Given the description of an element on the screen output the (x, y) to click on. 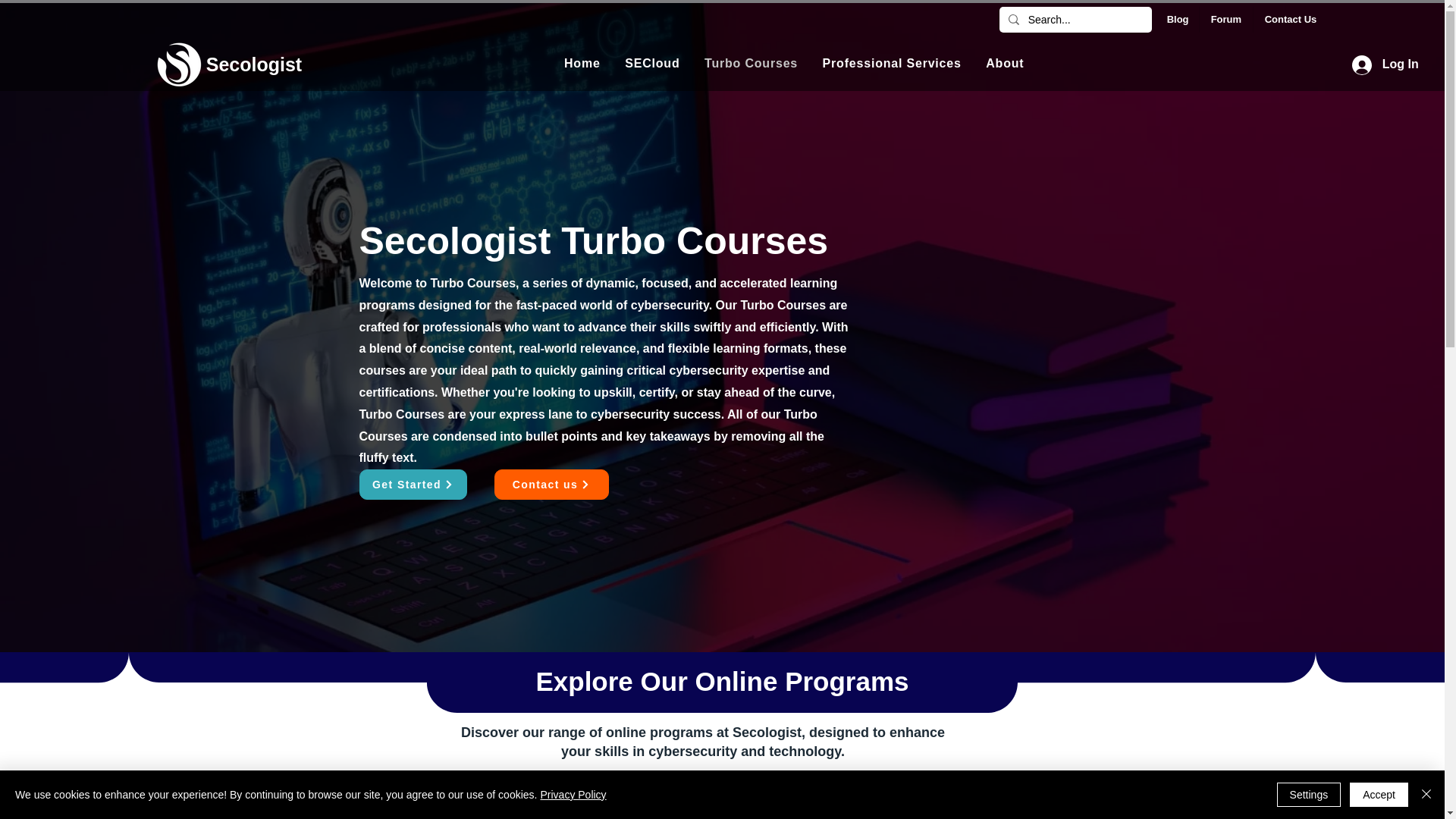
Home (582, 62)
Contact Us (793, 62)
Secologist (1289, 19)
Blog (253, 64)
Forum (1177, 19)
Turbo Courses (1225, 19)
